Given the description of an element on the screen output the (x, y) to click on. 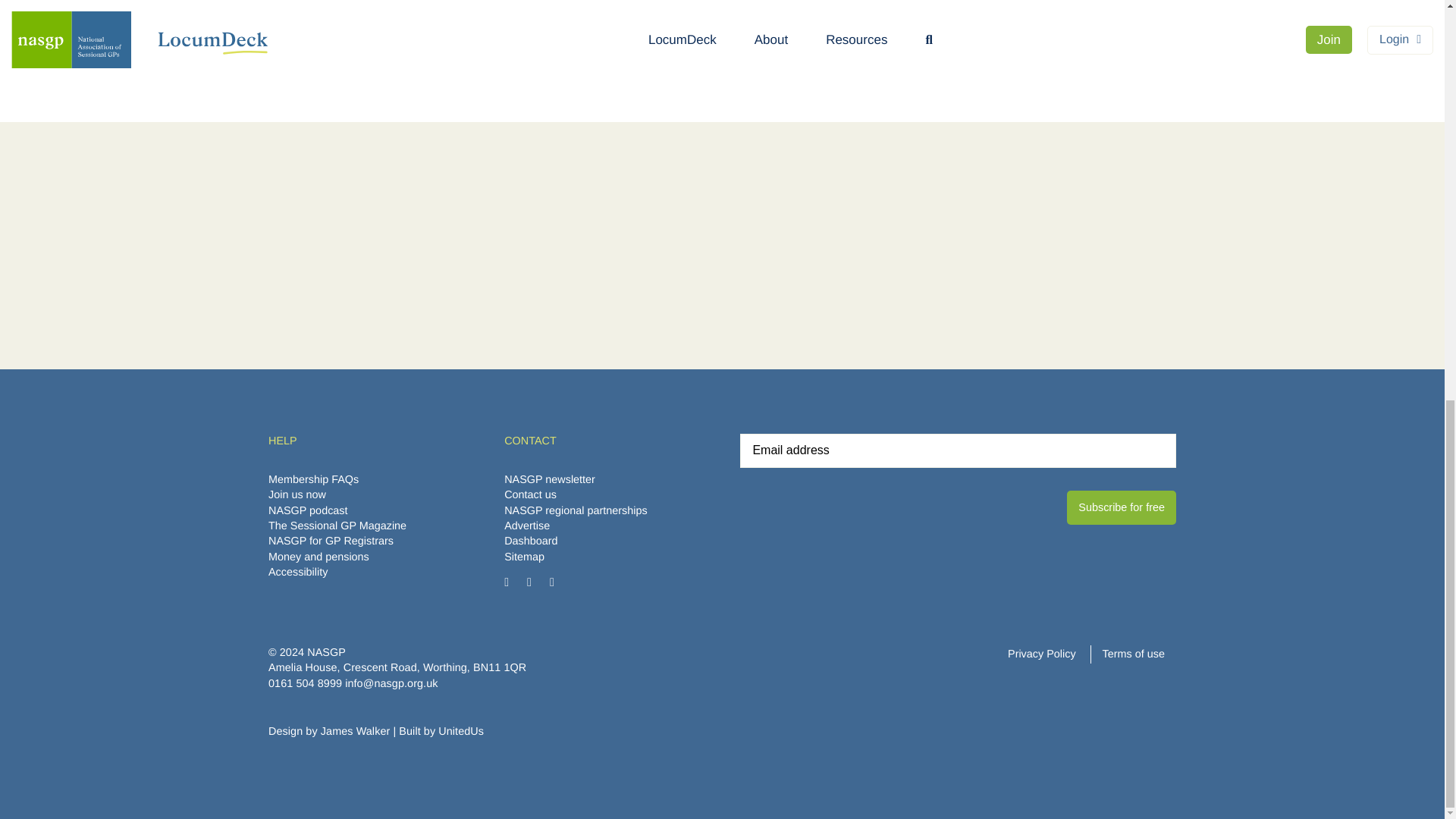
Subscribe for free (1121, 507)
